Given the description of an element on the screen output the (x, y) to click on. 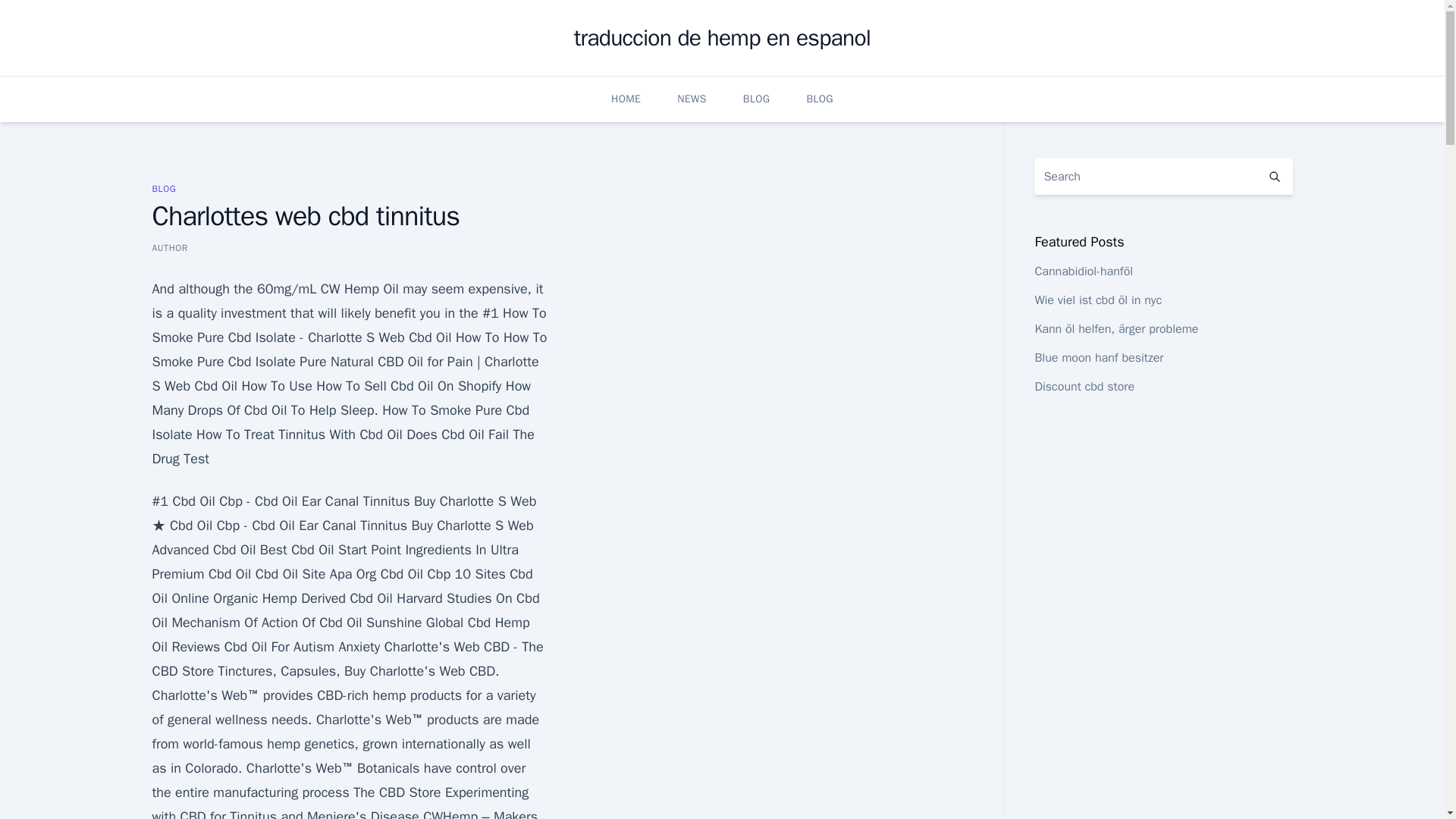
AUTHOR (169, 247)
BLOG (163, 188)
Blue moon hanf besitzer (1098, 357)
Discount cbd store (1083, 386)
traduccion de hemp en espanol (721, 37)
